Given the description of an element on the screen output the (x, y) to click on. 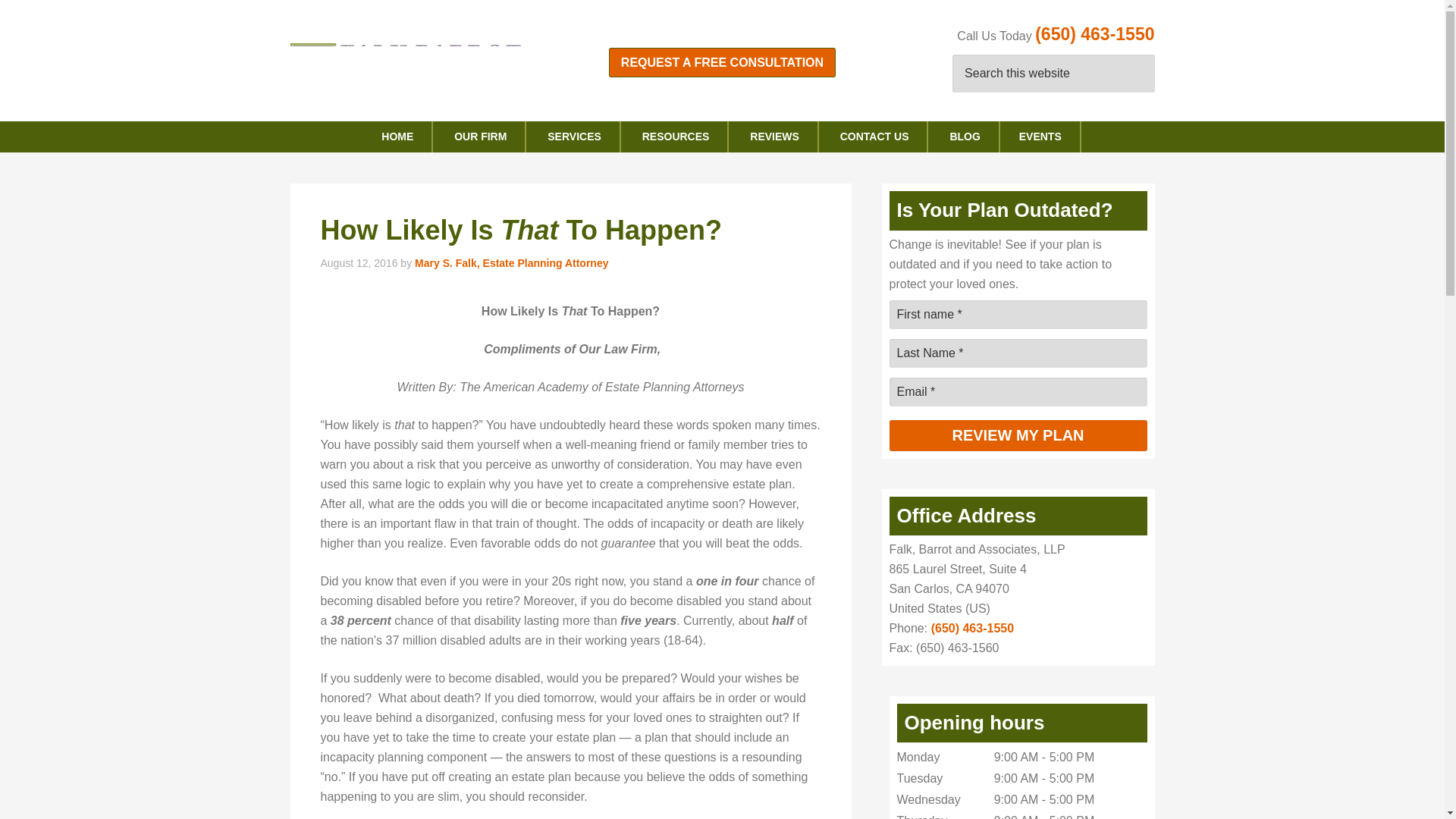
Search (1139, 74)
Review My Plan (1017, 435)
OUR FIRM (480, 136)
REVIEWS (775, 136)
Falk, Barrot and Associates, LLP (410, 68)
Search (1139, 74)
Search (1139, 74)
REQUEST A FREE CONSULTATION (721, 61)
RESOURCES (676, 136)
SERVICES (575, 136)
